Given the description of an element on the screen output the (x, y) to click on. 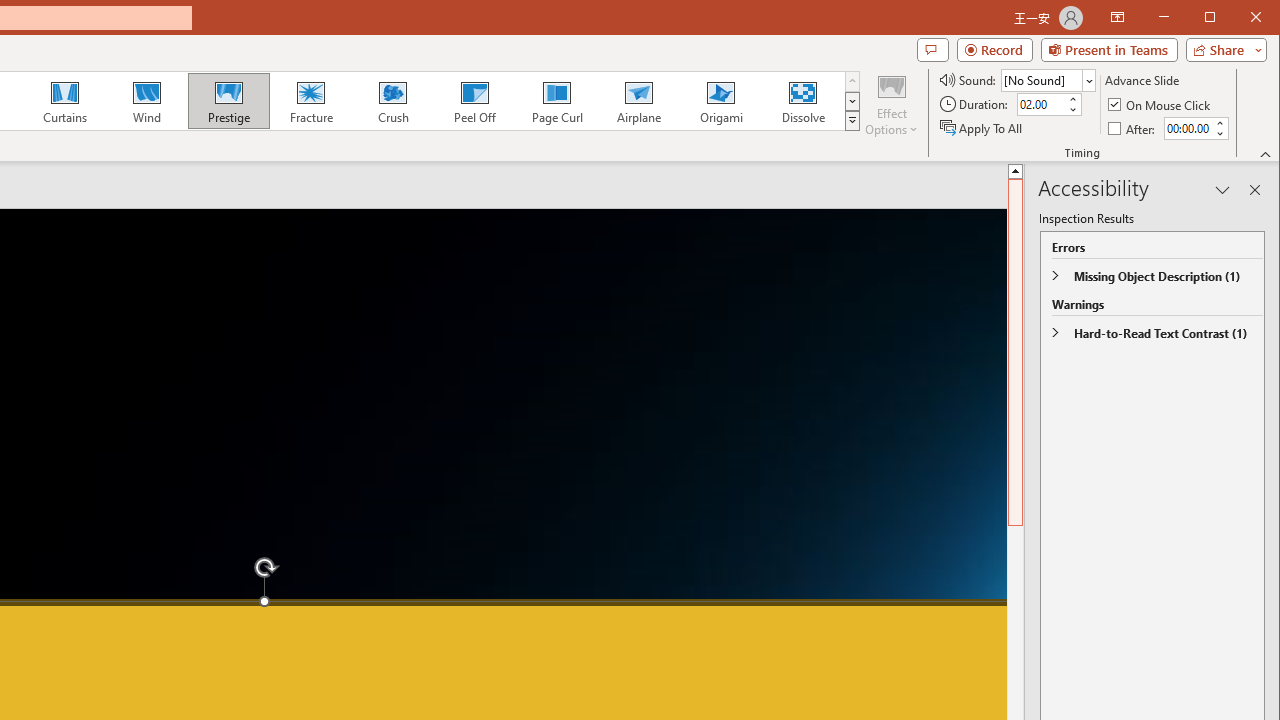
Sound (1047, 80)
Duration (1040, 104)
Origami (720, 100)
Share (1222, 49)
After (1187, 128)
Crush (392, 100)
Maximize (1238, 18)
Airplane (638, 100)
Task Pane Options (1222, 189)
Dissolve (802, 100)
Transition Effects (852, 120)
Class: NetUIImage (852, 120)
More (1218, 123)
Apply To All (982, 127)
Page up (1015, 311)
